Given the description of an element on the screen output the (x, y) to click on. 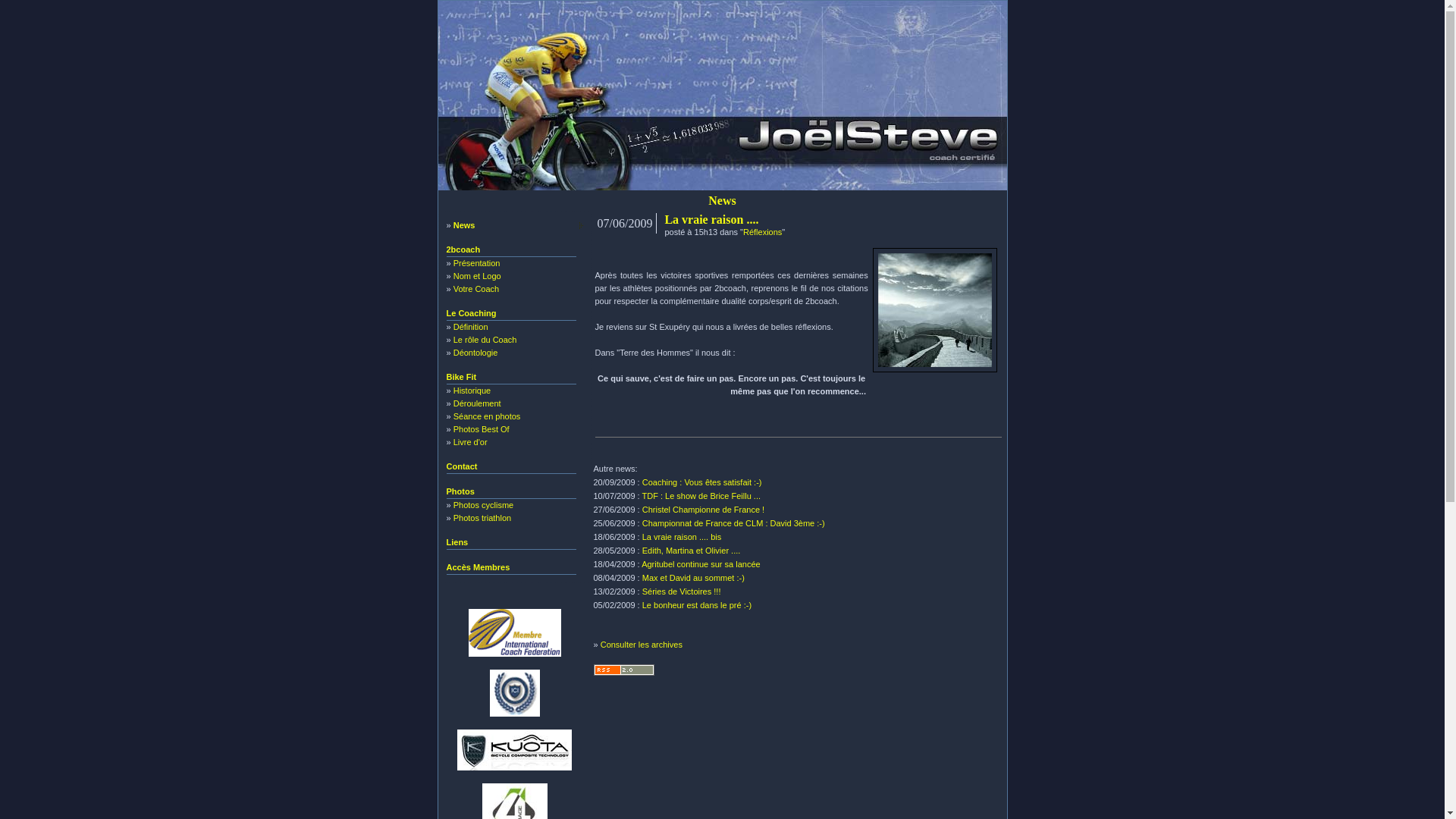
Votre Coach Element type: text (476, 288)
Historique Element type: text (472, 390)
Liens Element type: text (456, 541)
Contact Element type: text (460, 465)
Photos triathlon Element type: text (482, 517)
News Element type: text (464, 224)
Livre d'or Element type: text (470, 441)
La vraie raison .... Element type: text (711, 219)
Consulter les archives Element type: text (641, 644)
La vraie raison .... bis Element type: text (681, 536)
Edith, Martina et Olivier .... Element type: text (691, 550)
Max et David au sommet :-) Element type: text (693, 577)
Photos cyclisme Element type: text (483, 504)
Christel Championne de France ! Element type: text (703, 509)
TDF : Le show de Brice Feillu ... Element type: text (701, 495)
Nom et Logo Element type: text (477, 275)
Photos Best Of Element type: text (481, 428)
